Given the description of an element on the screen output the (x, y) to click on. 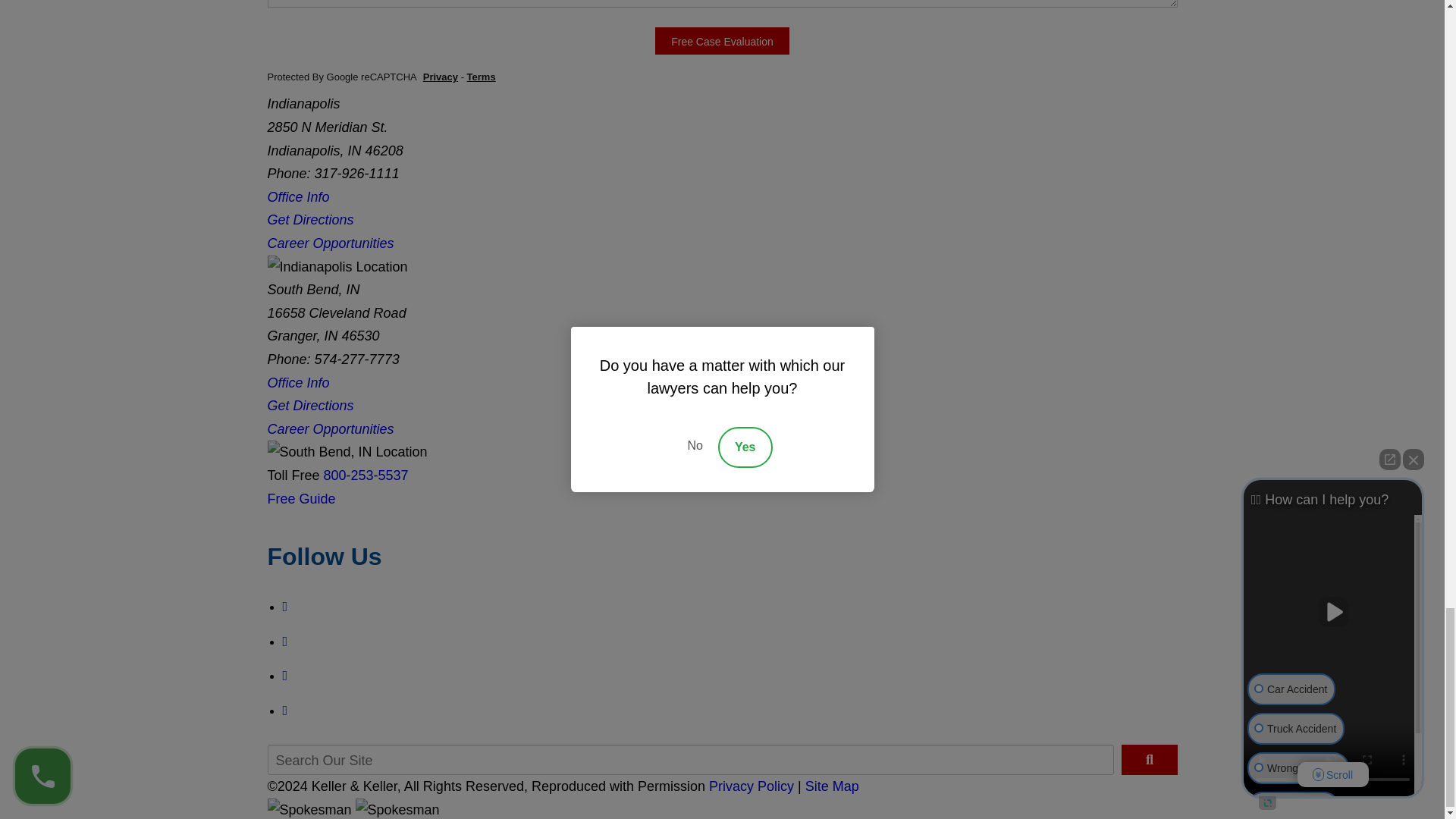
Search (1148, 759)
